Given the description of an element on the screen output the (x, y) to click on. 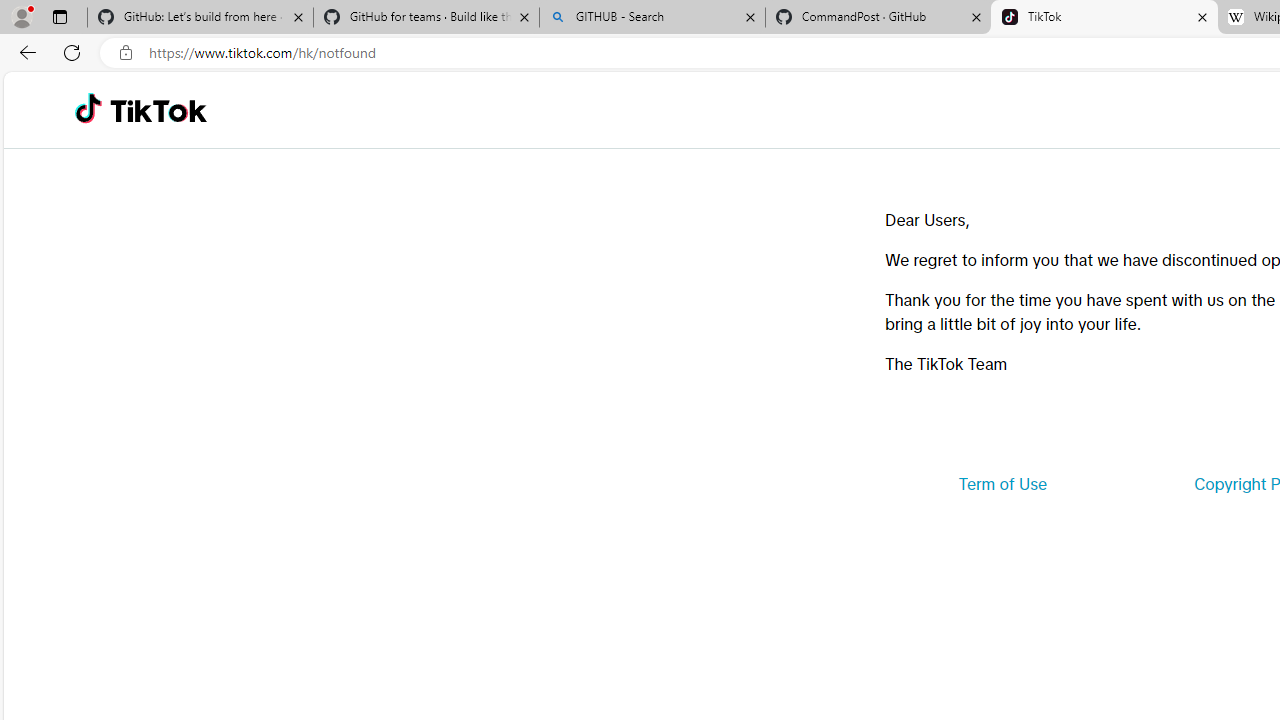
Back (24, 52)
Refresh (72, 52)
GITHUB - Search (652, 17)
TikTok (1104, 17)
Tab actions menu (59, 16)
Term of Use (1002, 484)
Close tab (1202, 16)
View site information (125, 53)
TikTok (158, 110)
